Given the description of an element on the screen output the (x, y) to click on. 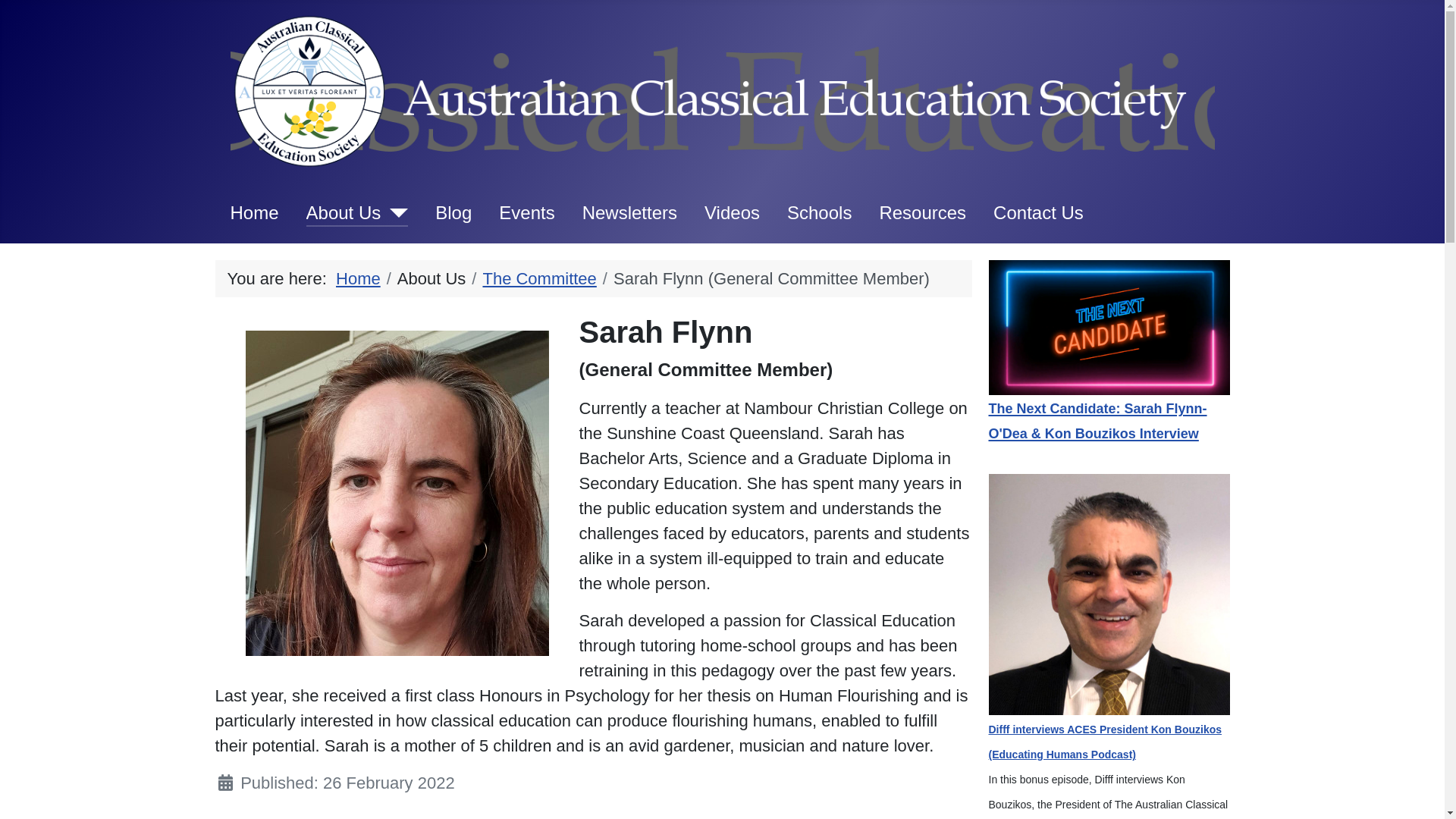
Videos Element type: text (731, 212)
Resources Element type: text (922, 212)
Contact Us Element type: text (1038, 212)
Schools Element type: text (819, 212)
Newsletters Element type: text (629, 212)
Home Element type: text (254, 212)
About Us Element type: text (357, 212)
Difff interviews ACES President Kon Bouzikos Element type: hover (1109, 592)
Events Element type: text (526, 212)
Home Element type: text (357, 278)
Blog Element type: text (453, 212)
Podcast: Educating Humans Element type: hover (1109, 594)
The Committee Element type: text (539, 278)
